Given the description of an element on the screen output the (x, y) to click on. 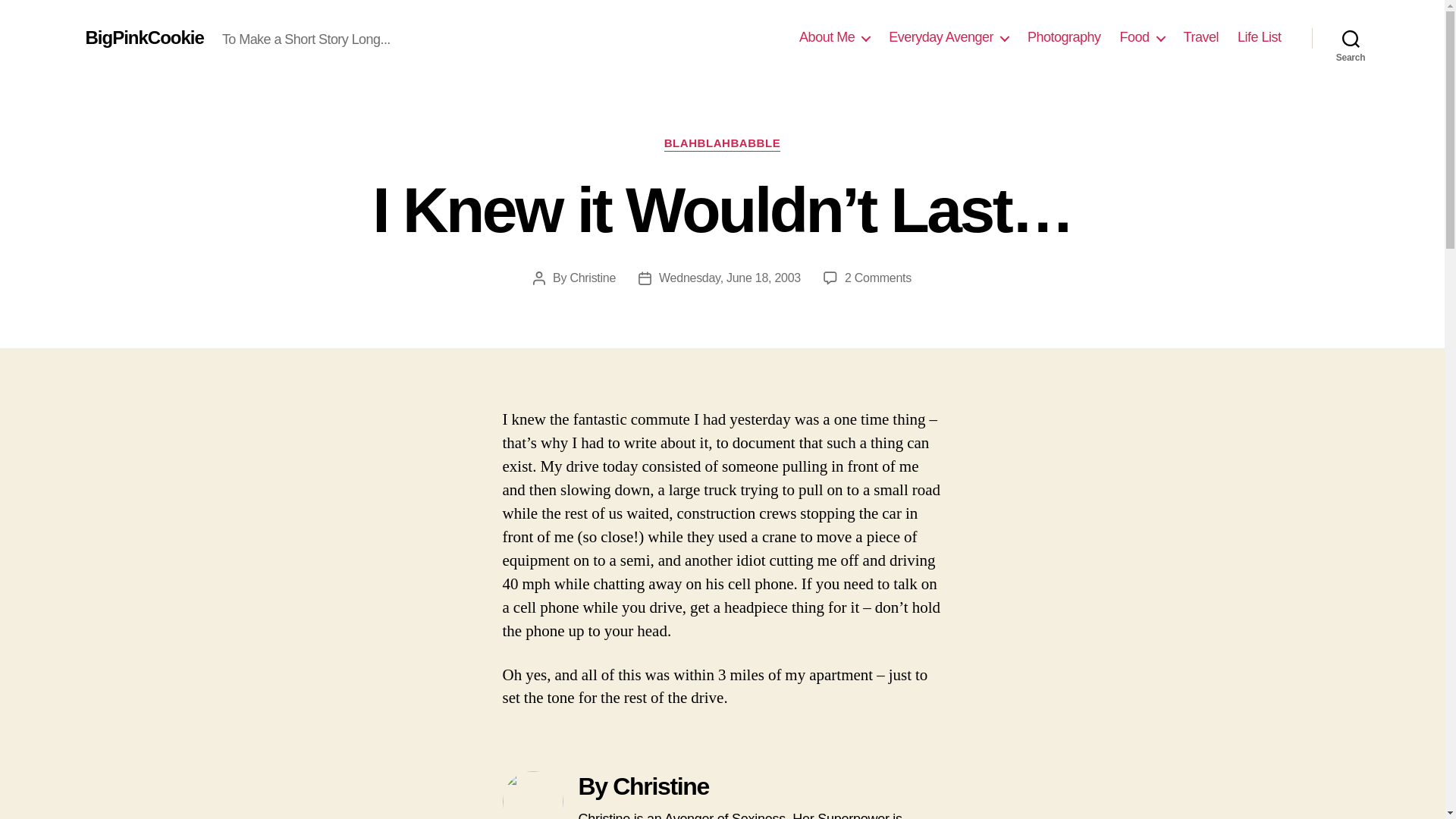
Christine (592, 277)
Photography (1063, 37)
Everyday Avenger (948, 37)
BLAHBLAHBABBLE (721, 143)
Life List (1259, 37)
BigPinkCookie (143, 37)
Travel (1200, 37)
Search (1350, 37)
Food (1141, 37)
About Me (834, 37)
